Given the description of an element on the screen output the (x, y) to click on. 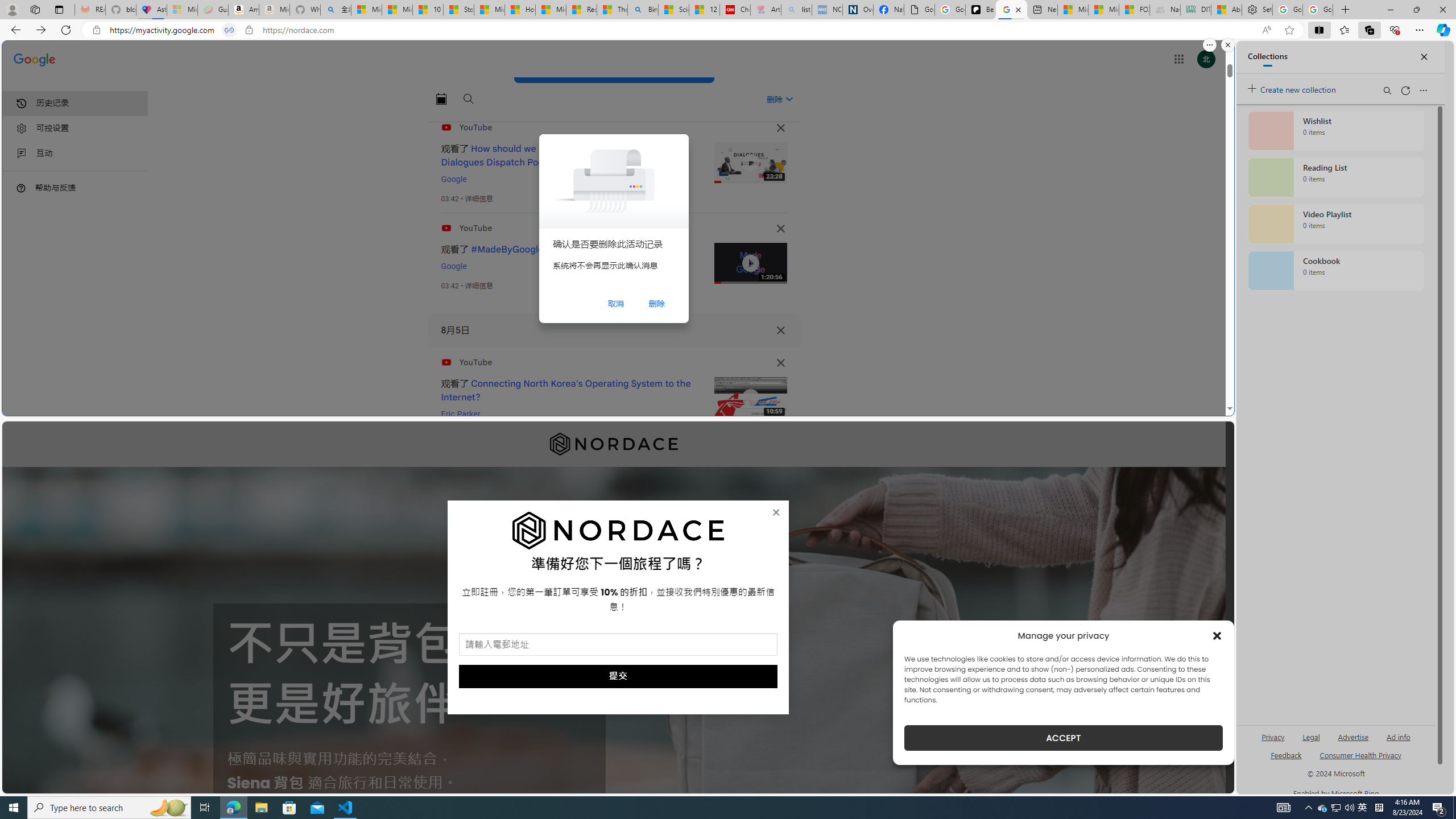
How I Got Rid of Microsoft Edge's Unnecessary Features (519, 9)
Class: asE2Ub NMm5M (788, 99)
Class: i2GIId (21, 153)
ACCEPT (1063, 737)
Eric Parker (460, 414)
